Given the description of an element on the screen output the (x, y) to click on. 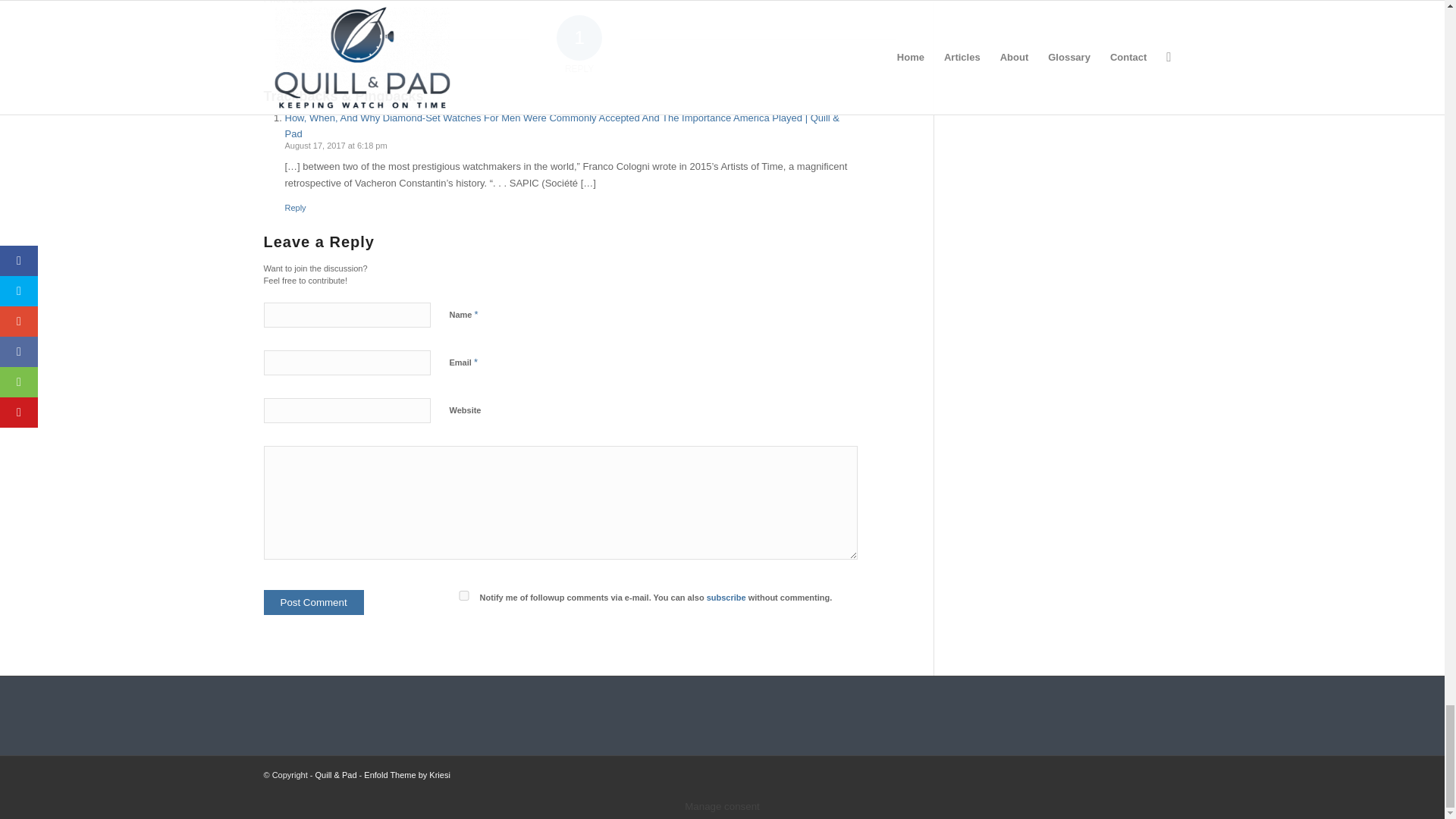
Post Comment (313, 602)
Reply (295, 207)
August 17, 2017 at 6:18 pm (336, 144)
subscribe (725, 596)
yes (462, 595)
Post Comment (313, 602)
